Given the description of an element on the screen output the (x, y) to click on. 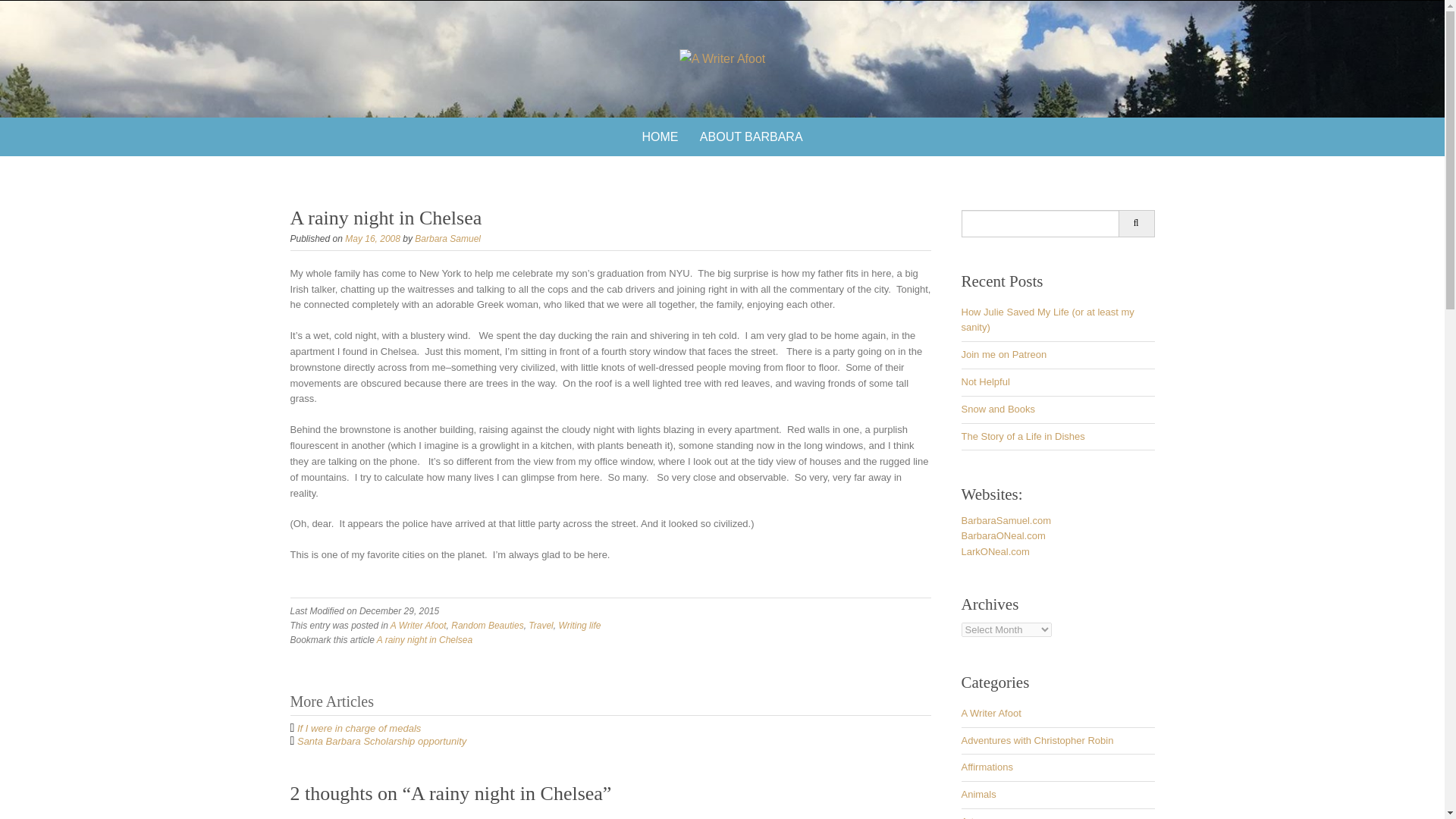
LarkONeal.com (994, 551)
ABOUT BARBARA (751, 136)
Barbara Samuel (447, 238)
A Writer Afoot (991, 713)
Random Beauties (486, 624)
Travel (540, 624)
Santa Barbara Scholarship opportunity (381, 740)
Writing life (578, 624)
A Writer Afoot books, travel, food, writing (722, 58)
Art (967, 817)
The Story of a Life in Dishes (1022, 436)
If I were in charge of medals (358, 727)
Animals (977, 794)
BarbaraONeal.com (1002, 535)
A rainy night in Chelsea (424, 639)
